Given the description of an element on the screen output the (x, y) to click on. 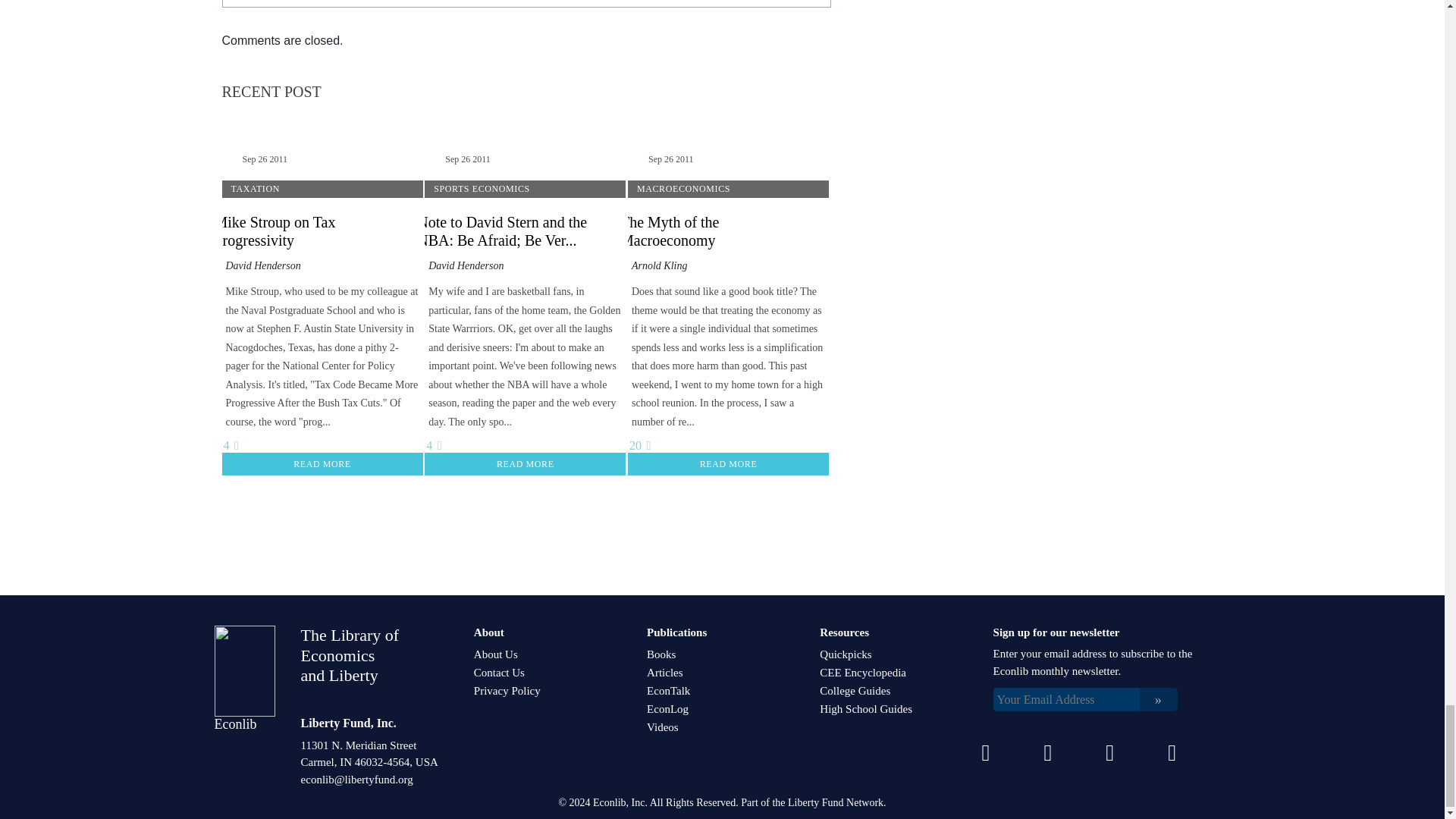
David Henderson (263, 265)
Arnold Kling (659, 265)
David Henderson (465, 265)
